Given the description of an element on the screen output the (x, y) to click on. 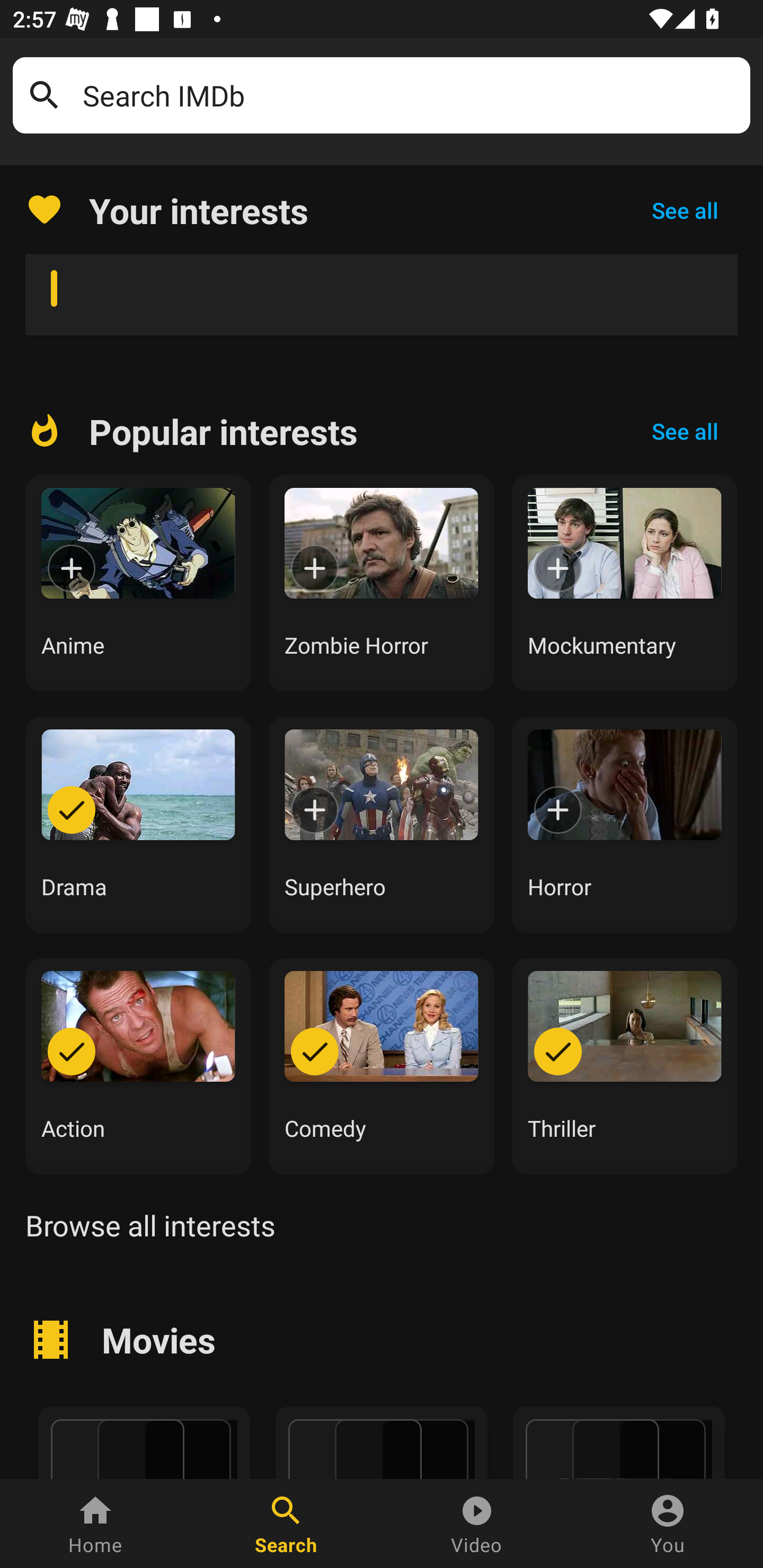
Search IMDb (410, 95)
See all (684, 209)
See all (684, 430)
Anime (138, 583)
Zombie Horror (381, 583)
Mockumentary (624, 583)
Drama (138, 824)
Superhero (381, 824)
Horror (624, 824)
Action (138, 1065)
Comedy (381, 1065)
Thriller (624, 1065)
Browse all interests (150, 1224)
Home (95, 1523)
Video (476, 1523)
You (667, 1523)
